Given the description of an element on the screen output the (x, y) to click on. 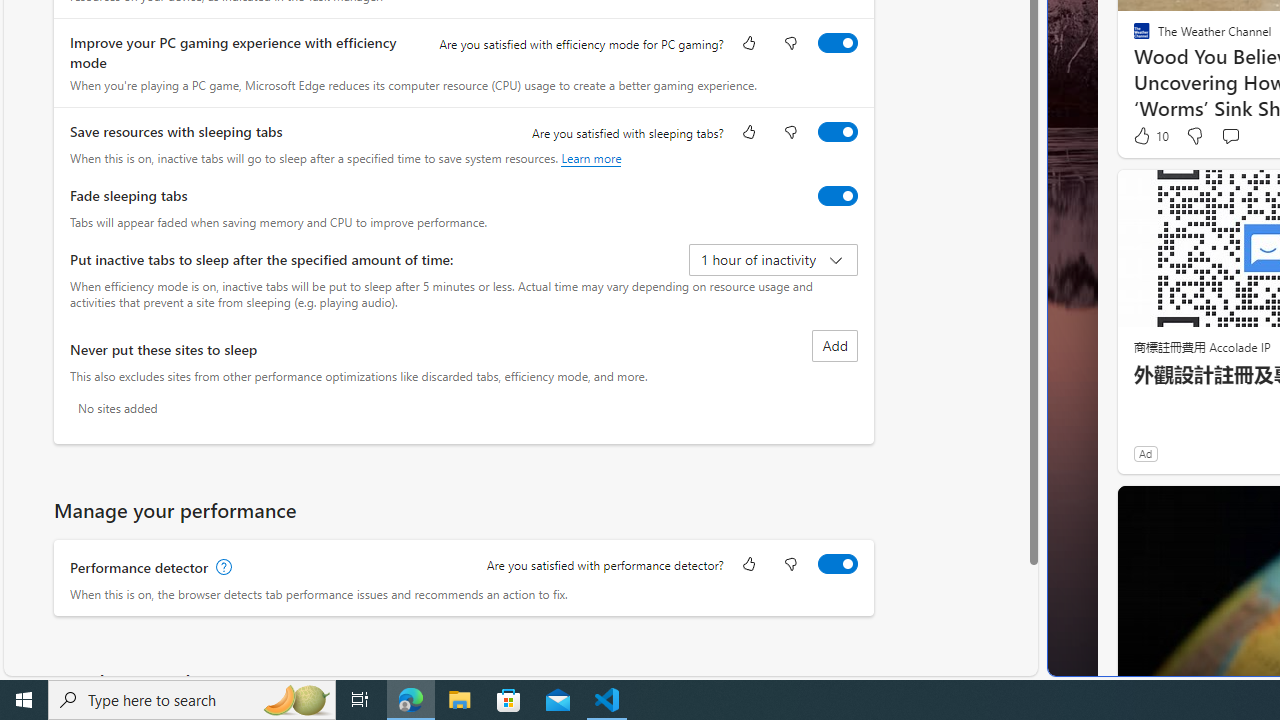
10 Like (1149, 135)
